Given the description of an element on the screen output the (x, y) to click on. 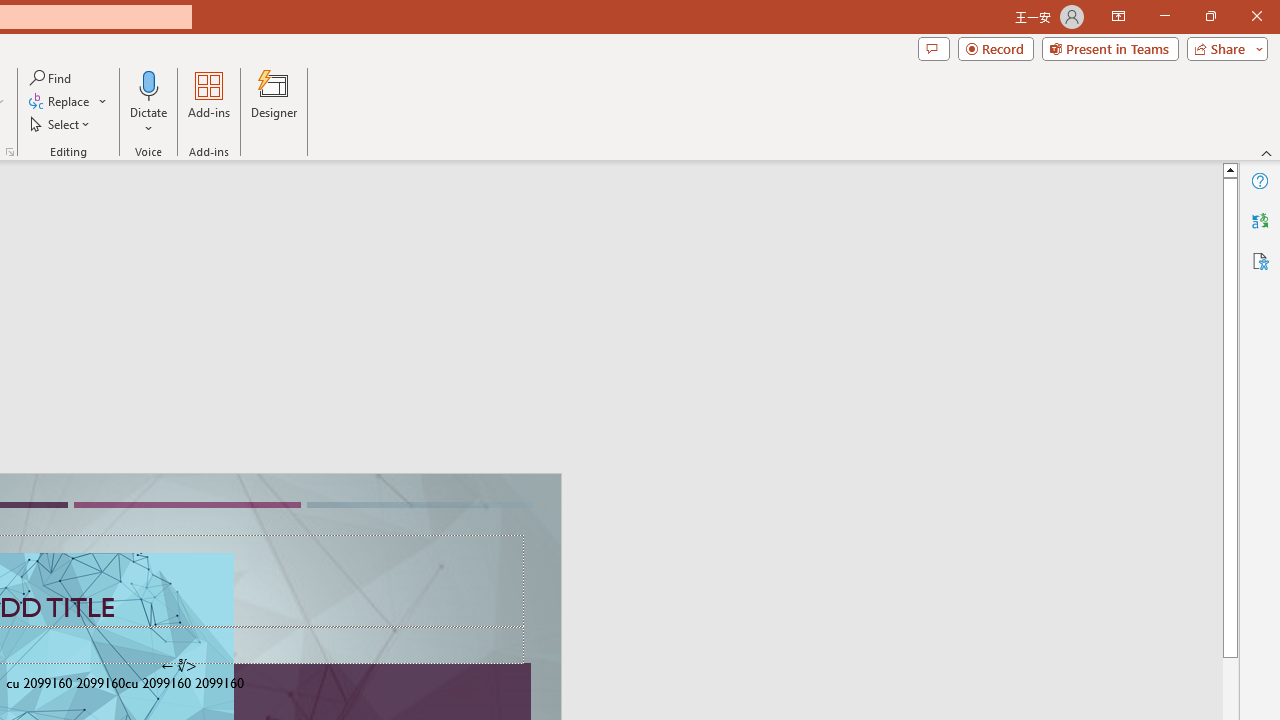
Find... (51, 78)
